Given the description of an element on the screen output the (x, y) to click on. 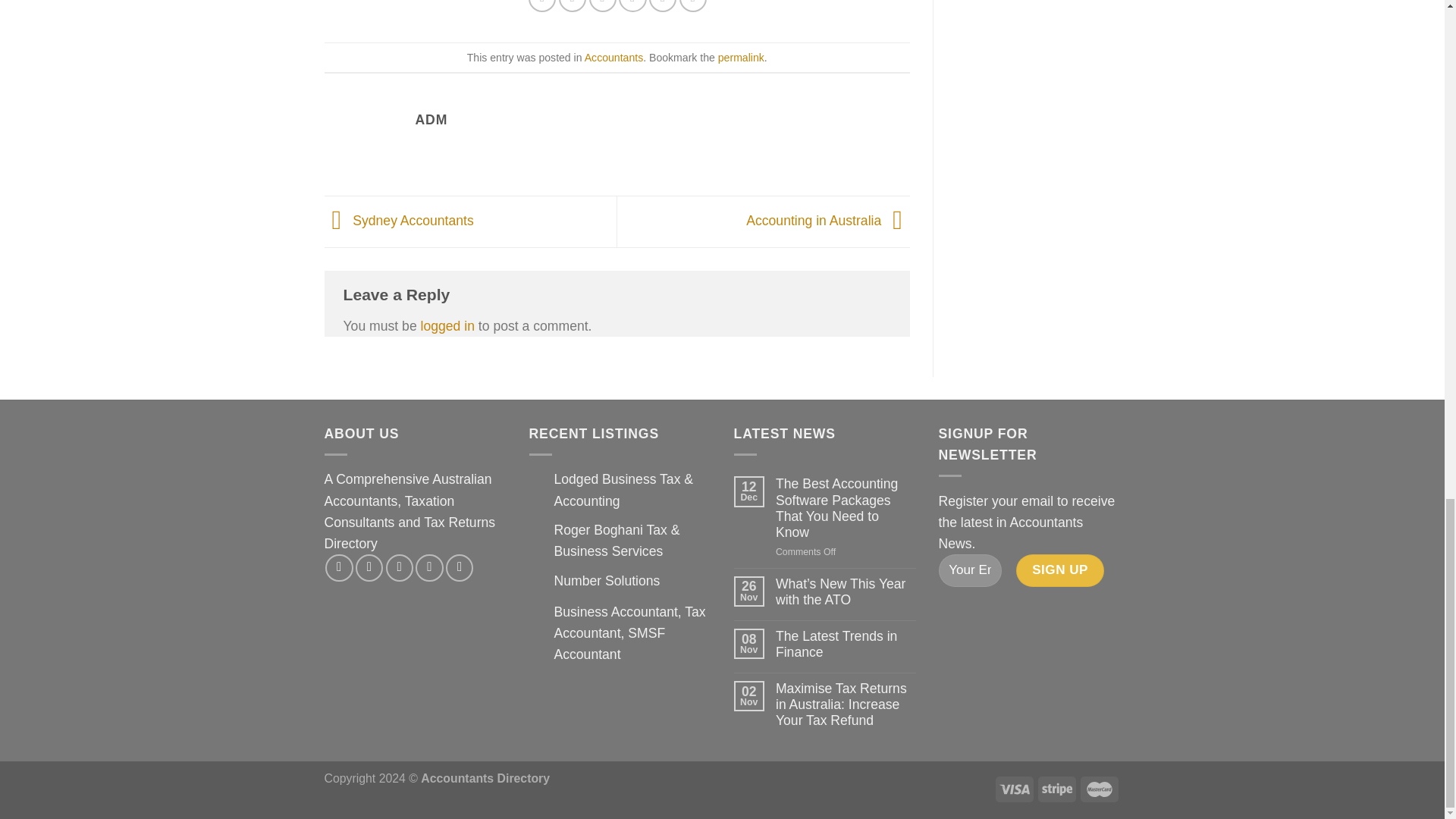
Share on Facebook (542, 5)
Sydney Accountants (399, 220)
permalink (740, 57)
Accounting in Australia (827, 220)
Share on Tumblr (692, 5)
logged in (447, 325)
Share on Twitter (572, 5)
Share on LinkedIn (663, 5)
Sign Up (1060, 570)
Pin on Pinterest (632, 5)
